Given the description of an element on the screen output the (x, y) to click on. 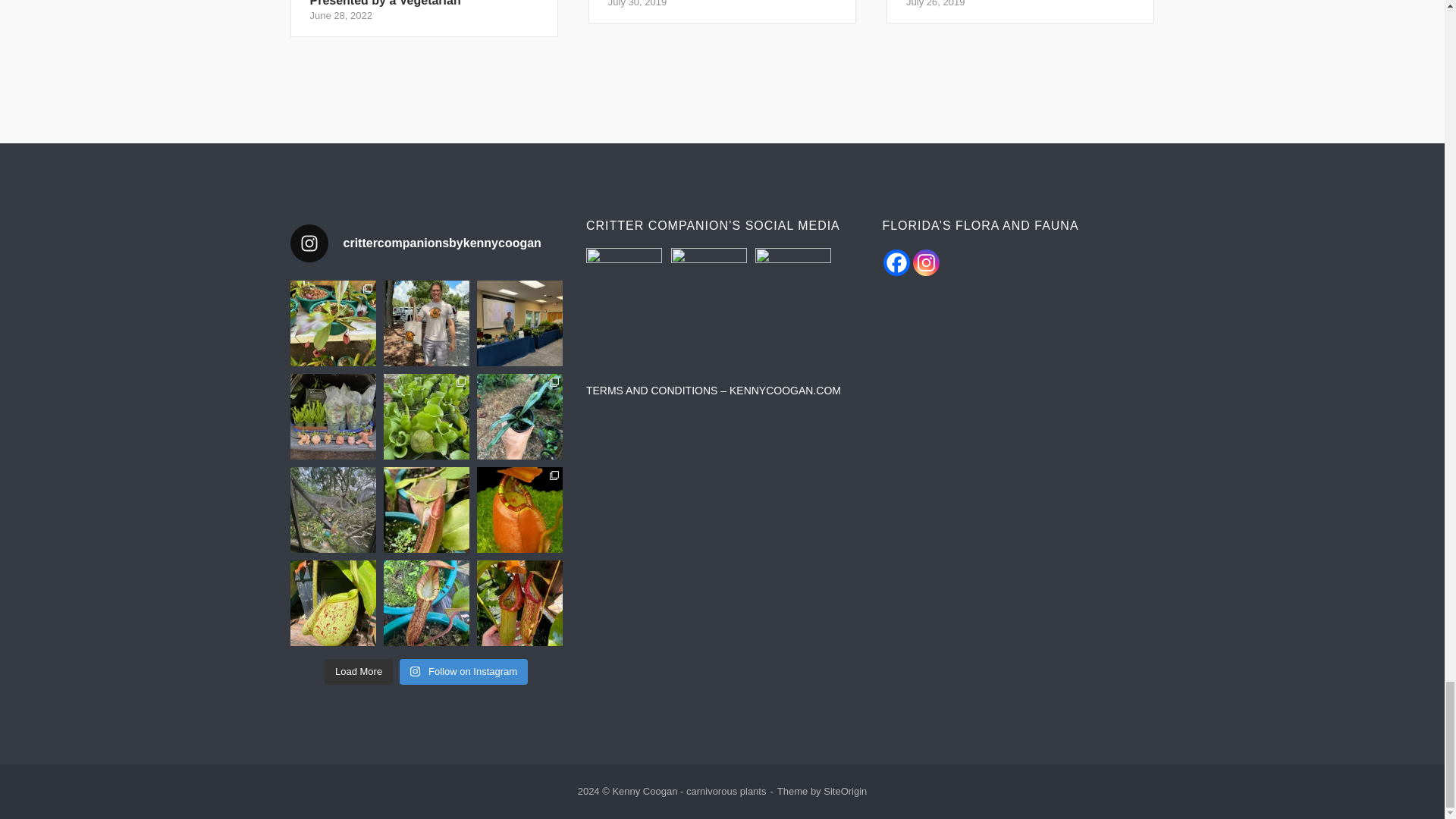
How To Ship Carnivorous Plants? (722, 12)
crittercompanionsbykennycoogan (722, 12)
Carnivorous Plants and Their Care, Presented by a Vegetarian (425, 243)
